Given the description of an element on the screen output the (x, y) to click on. 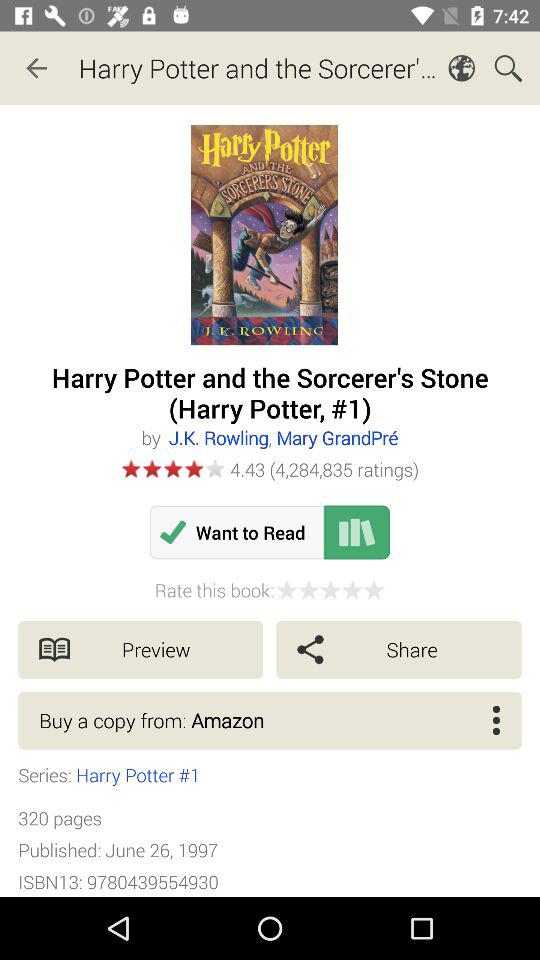
click item below the 4 43 4 icon (236, 532)
